Given the description of an element on the screen output the (x, y) to click on. 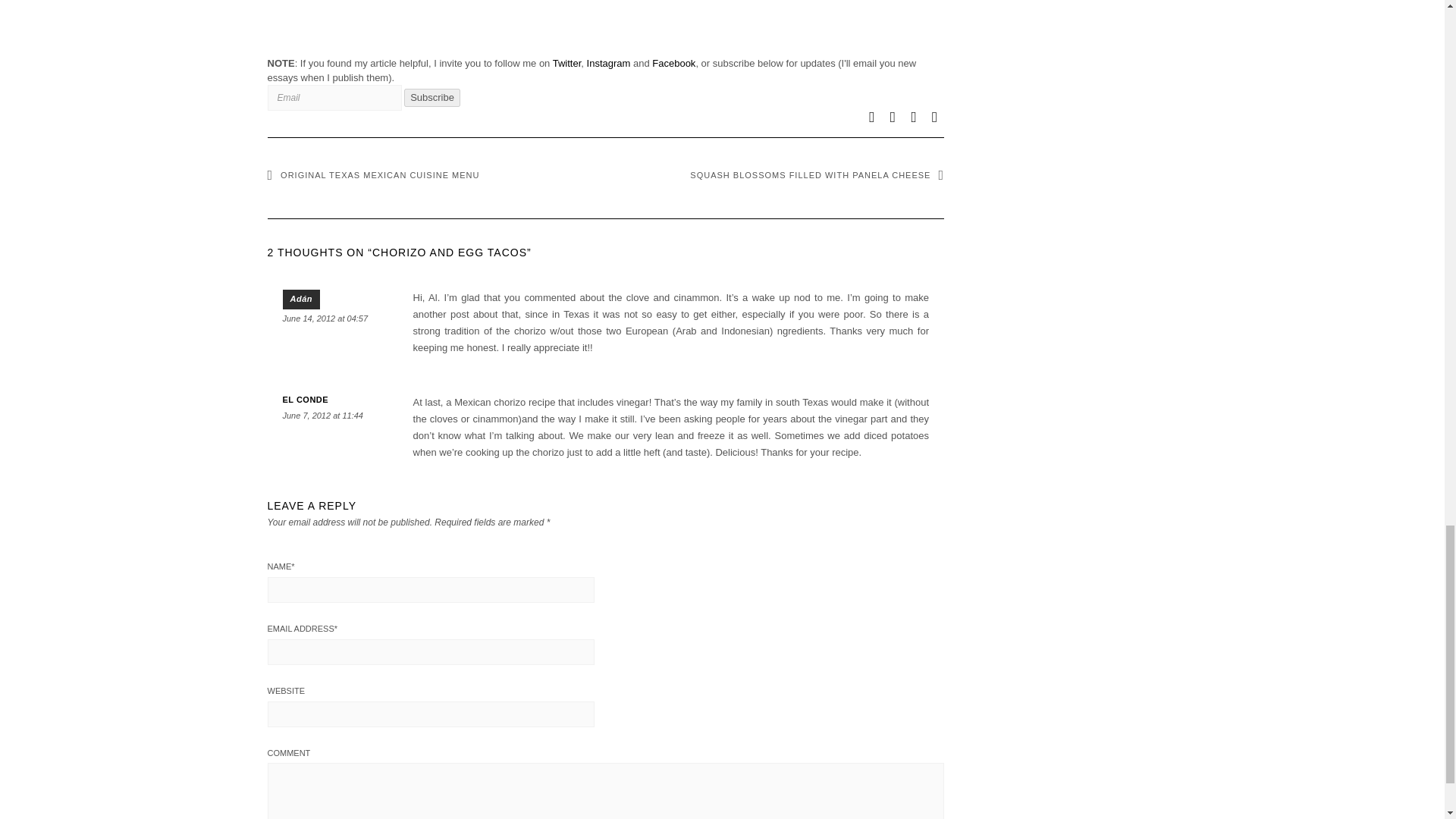
ORIGINAL TEXAS MEXICAN CUISINE MENU (372, 174)
Subscribe (432, 97)
SQUASH BLOSSOMS FILLED WITH PANELA CHEESE (816, 174)
June 14, 2012 at 04:57 (325, 317)
Twitter (566, 62)
June 7, 2012 at 11:44 (322, 415)
Subscribe (432, 97)
EL CONDE (305, 399)
Facebook (673, 62)
Instagram (608, 62)
